Given the description of an element on the screen output the (x, y) to click on. 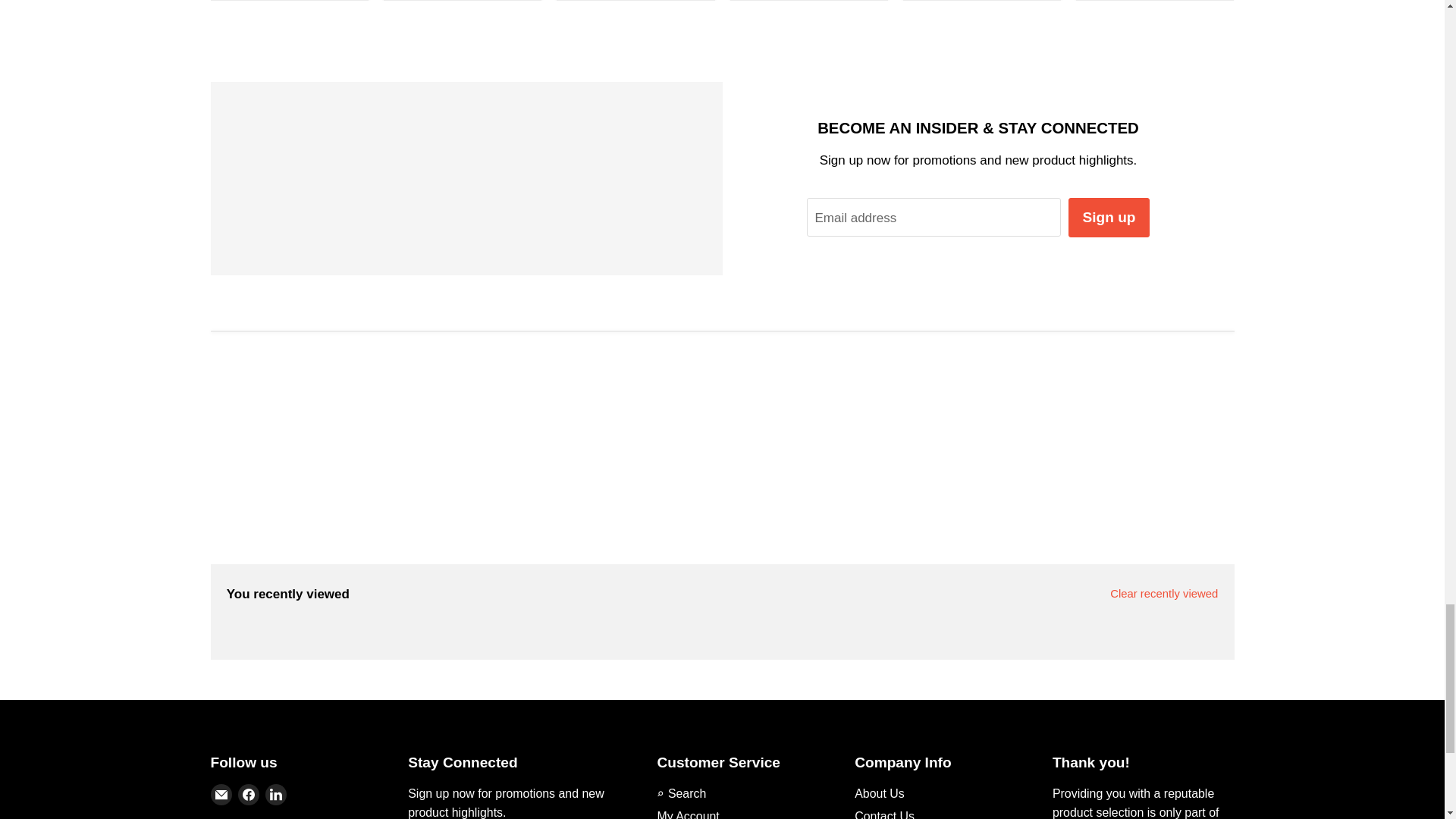
Facebook (248, 794)
LinkedIn (275, 794)
Email (221, 794)
